Given the description of an element on the screen output the (x, y) to click on. 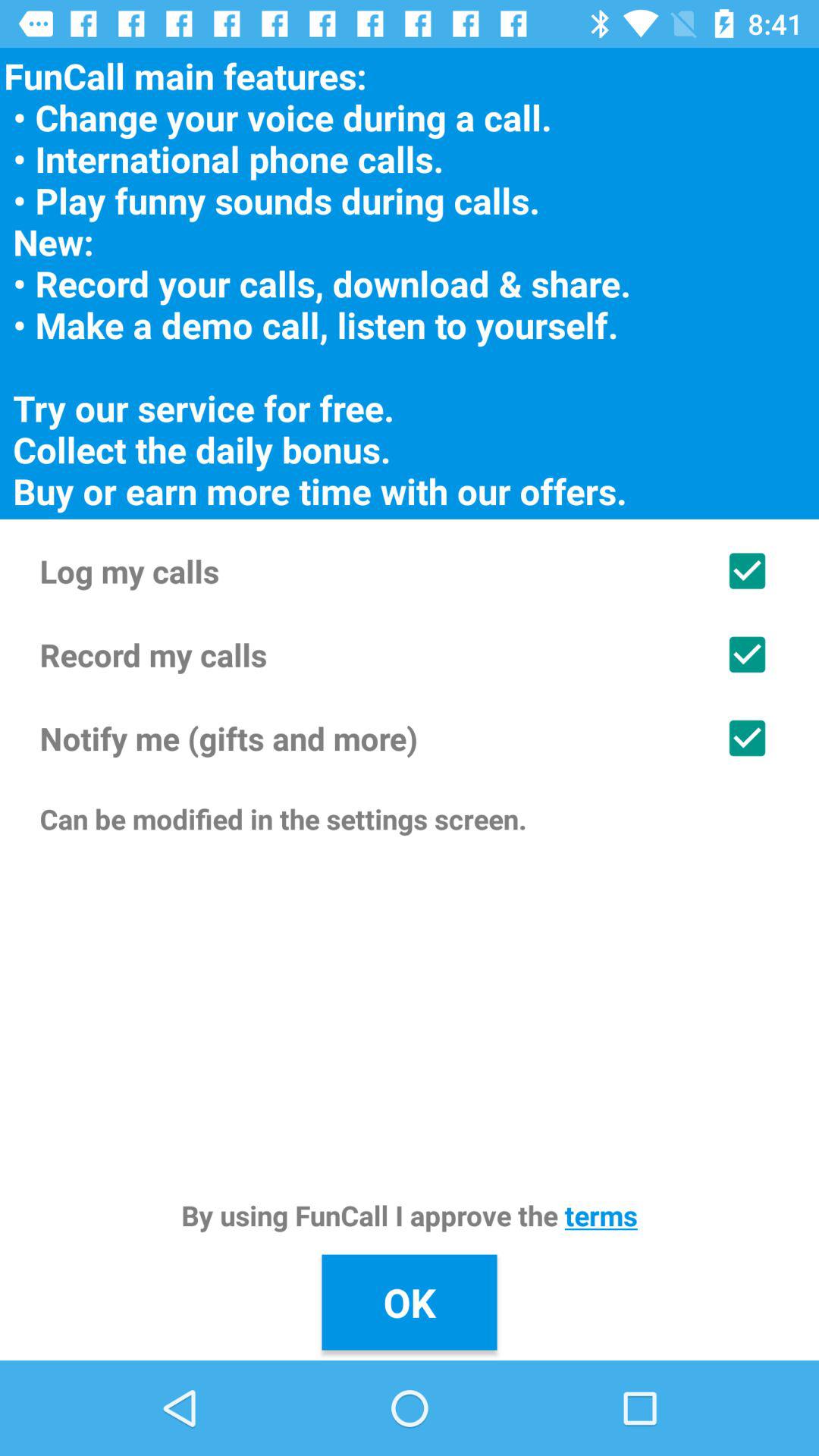
turn on the button above the ok icon (409, 1215)
